Given the description of an element on the screen output the (x, y) to click on. 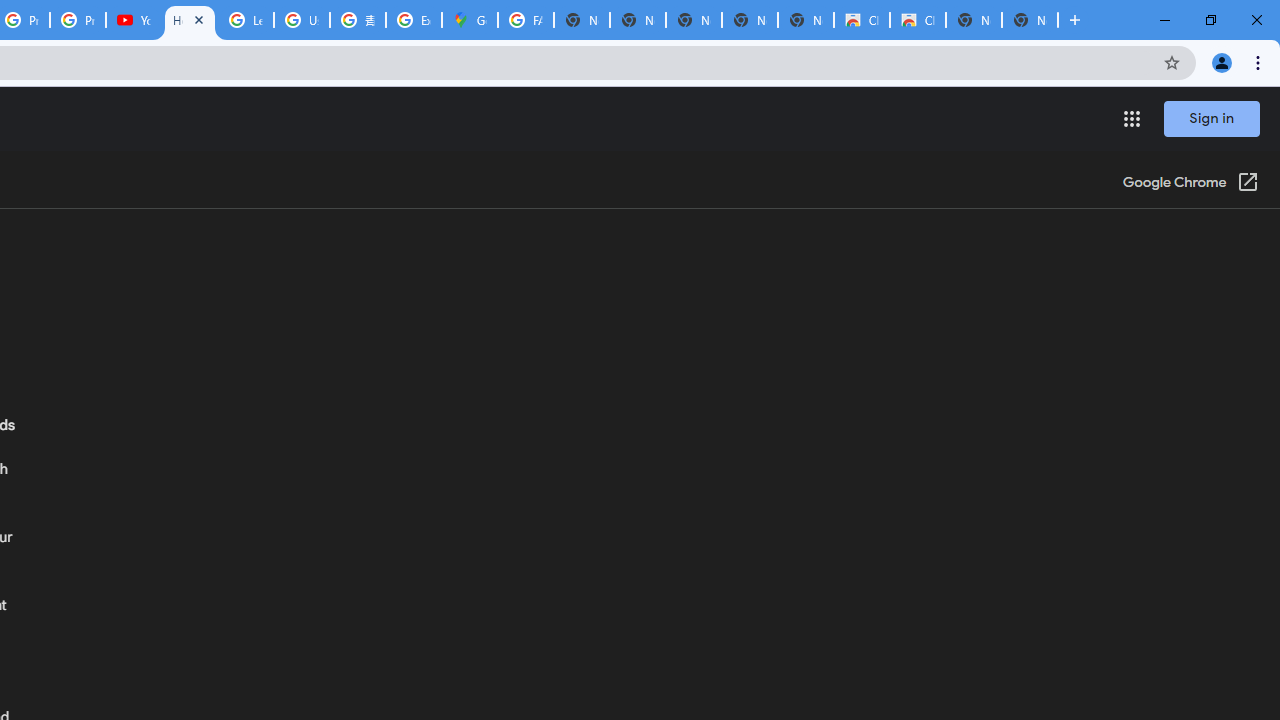
Explore new street-level details - Google Maps Help (413, 20)
YouTube (134, 20)
